Given the description of an element on the screen output the (x, y) to click on. 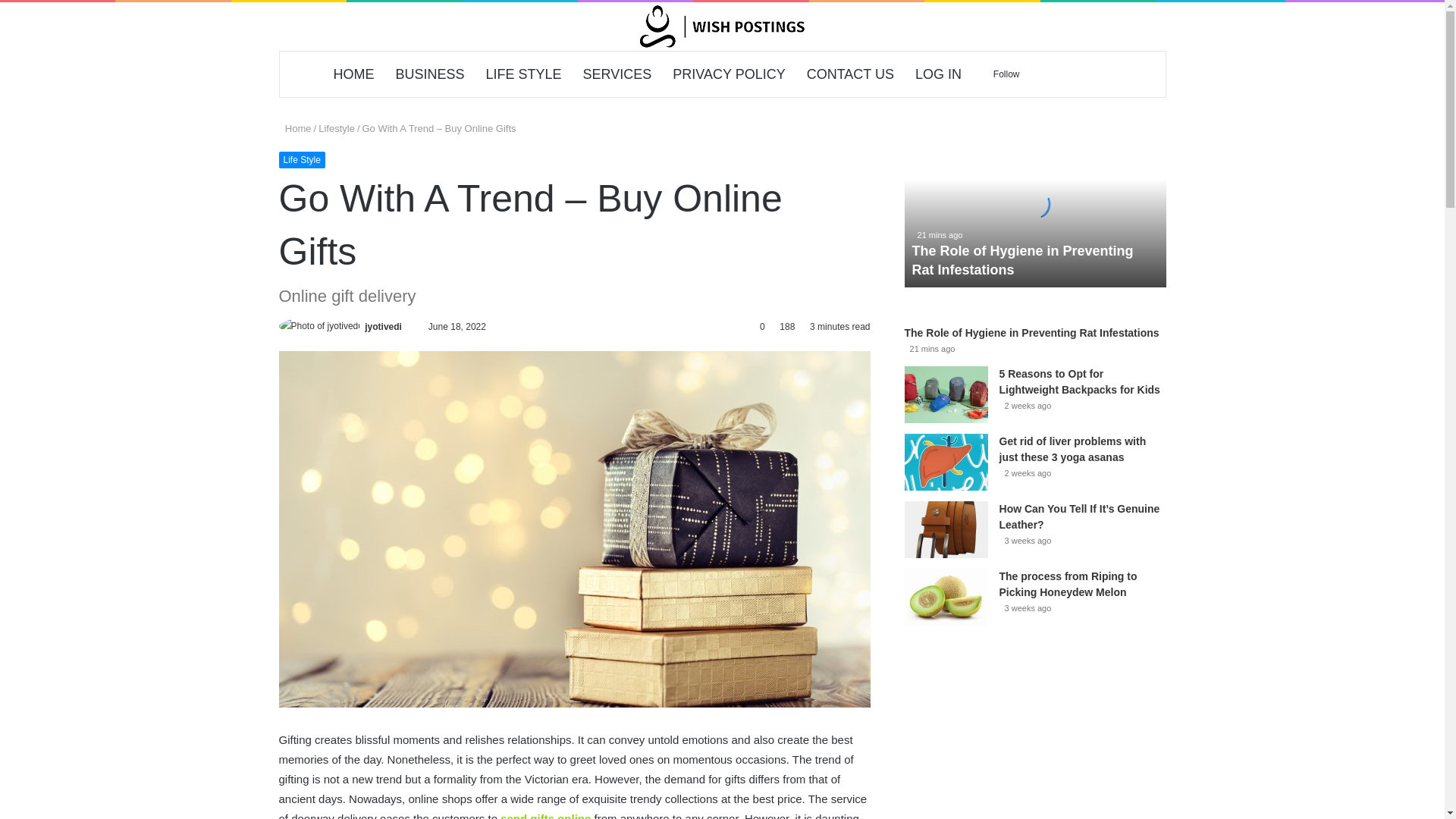
CONTACT US (850, 74)
LIFE STYLE (524, 74)
LOG IN (938, 74)
jyotivedi (383, 326)
The Role of Hygiene in Preventing Rat Infestations (1035, 203)
SERVICES (617, 74)
jyotivedi (383, 326)
send gifts online (547, 815)
HOME (354, 74)
Wish Postings (721, 27)
